Given the description of an element on the screen output the (x, y) to click on. 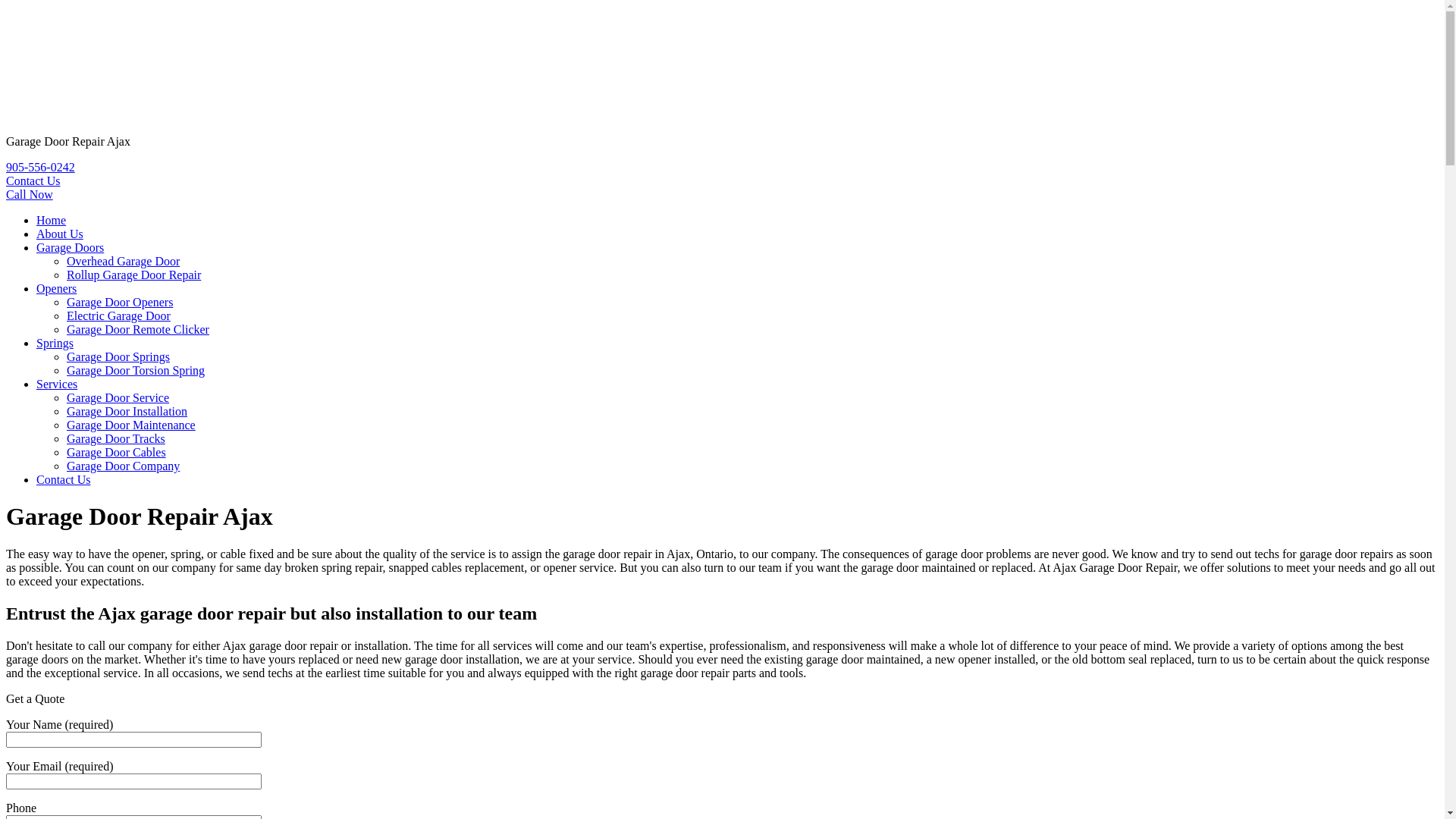
Springs Element type: text (54, 342)
Garage Door Remote Clicker Element type: text (137, 329)
905-556-0242 Element type: text (40, 166)
Home Element type: text (50, 219)
Garage Door Openers Element type: text (119, 301)
Call Now Element type: text (29, 194)
Garage Door Installation Element type: text (126, 410)
Garage Door Service Element type: text (117, 397)
Overhead Garage Door Element type: text (122, 260)
Garage Door Springs Element type: text (117, 356)
Garage Door Maintenance Element type: text (130, 424)
Rollup Garage Door Repair Element type: text (133, 274)
Garage Door Cables Element type: text (116, 451)
Electric Garage Door Element type: text (118, 315)
Contact Us Element type: text (63, 479)
Garage Door Torsion Spring Element type: text (135, 370)
Contact Us Element type: text (33, 180)
Garage Door Company Element type: text (122, 465)
Openers Element type: text (56, 288)
Garage Doors Element type: text (69, 247)
Services Element type: text (56, 383)
Garage Door Tracks Element type: text (115, 438)
About Us Element type: text (59, 233)
